Given the description of an element on the screen output the (x, y) to click on. 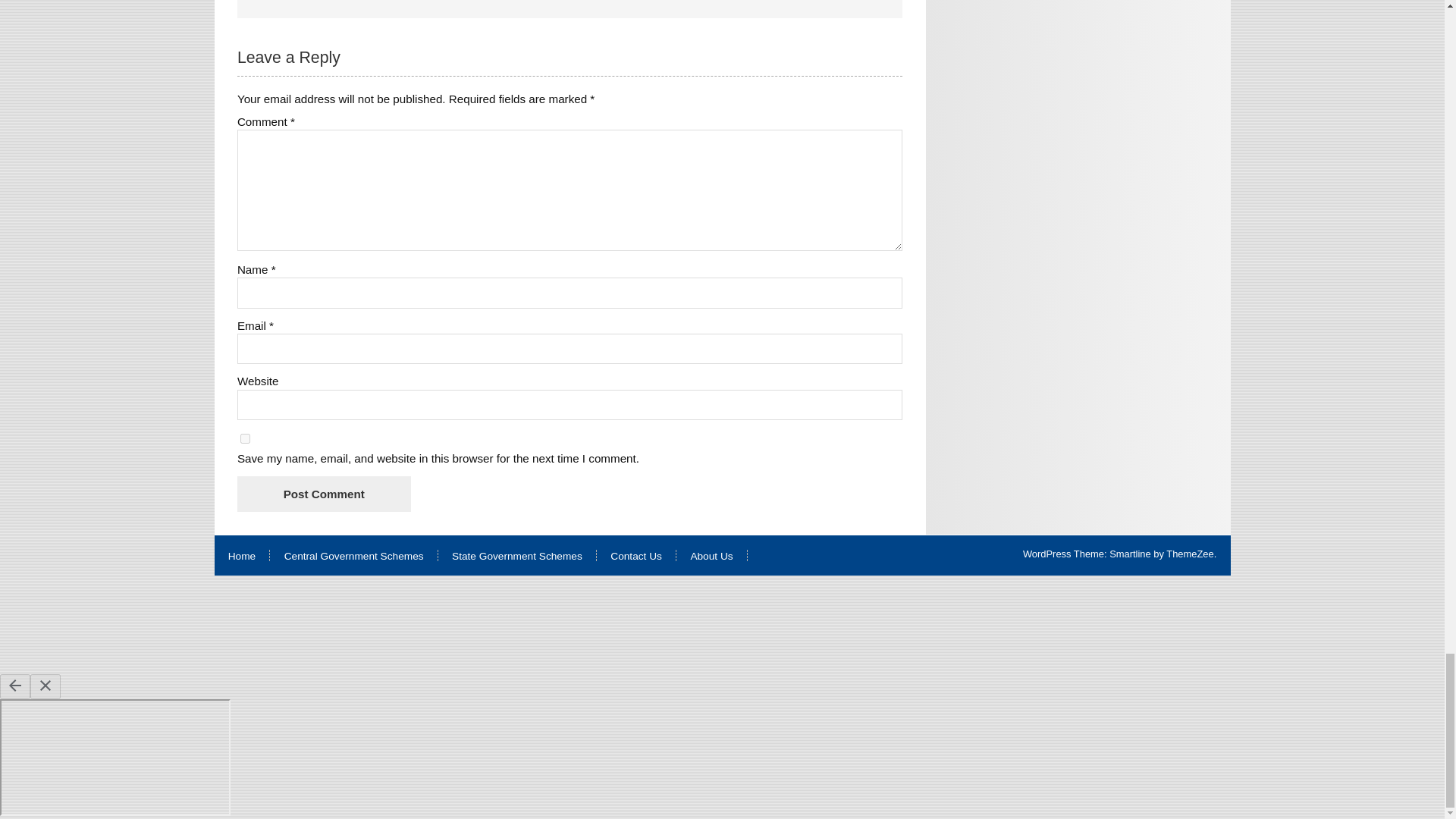
Post Comment (323, 493)
yes (245, 438)
